Given the description of an element on the screen output the (x, y) to click on. 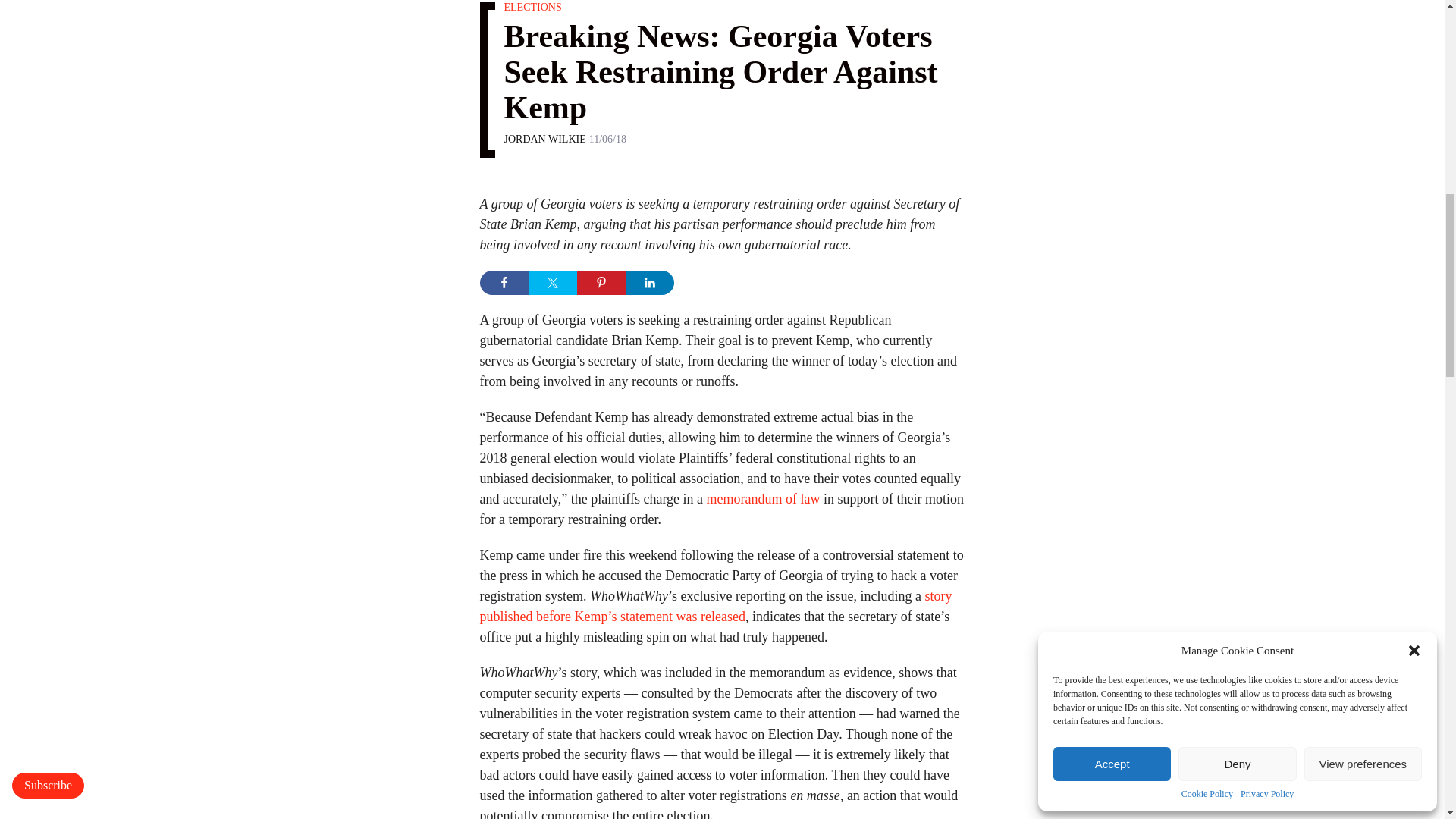
Share on Facebook (503, 282)
Share on Pinterest (600, 282)
Share on LinkedIn (648, 282)
Share on Twitter (551, 282)
Posts by Jordan Wilkie (544, 138)
